Given the description of an element on the screen output the (x, y) to click on. 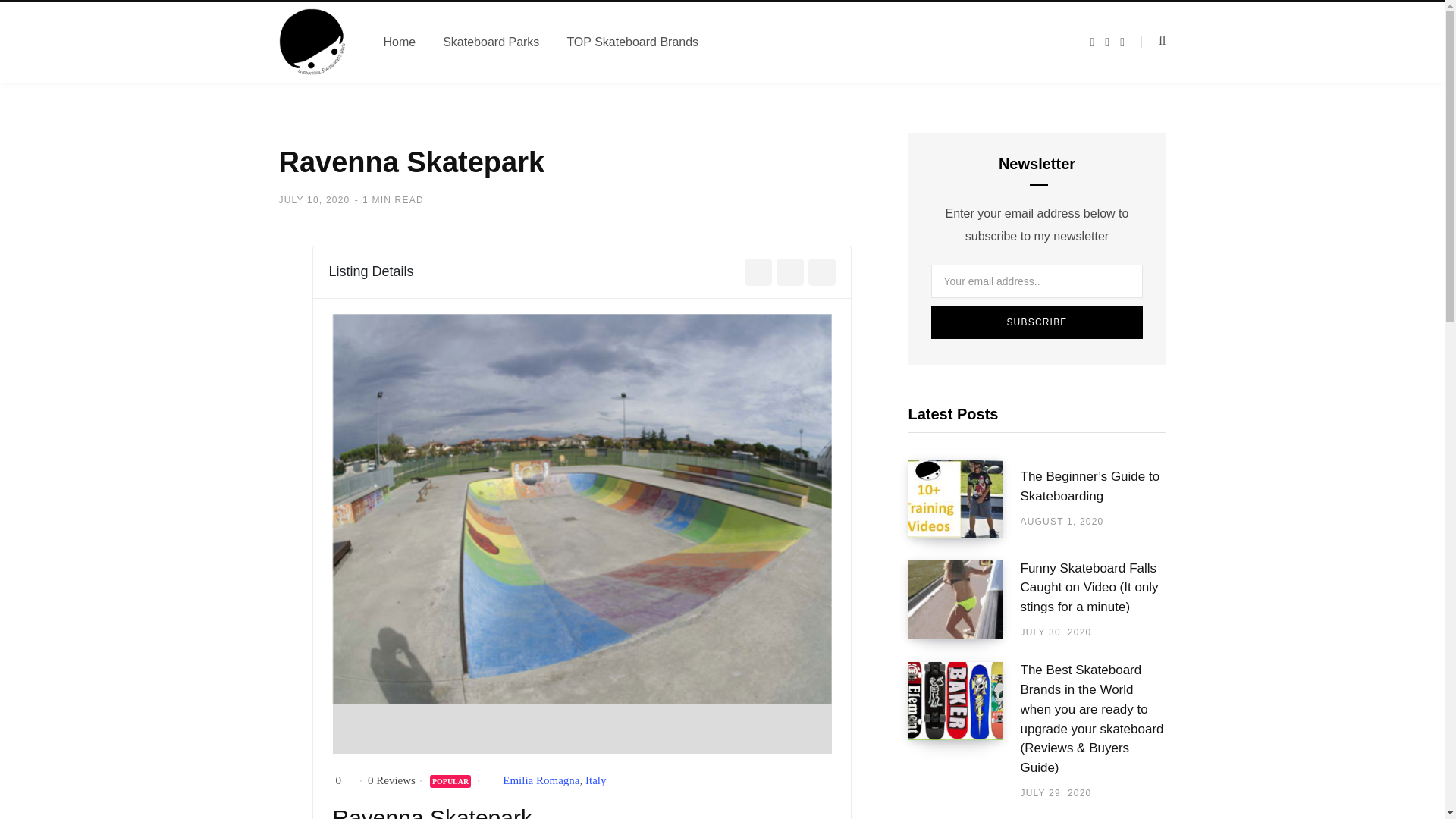
Skateboard Parks (491, 41)
Subscribe (1036, 322)
AUGUST 1, 2020 (1061, 520)
TOP Skateboard Brands (632, 41)
Subscribe (1036, 322)
Home (399, 41)
International Skate Boarders Union (313, 42)
JULY 10, 2020 (314, 199)
Italy (596, 779)
Emilia Romagna (540, 779)
